Given the description of an element on the screen output the (x, y) to click on. 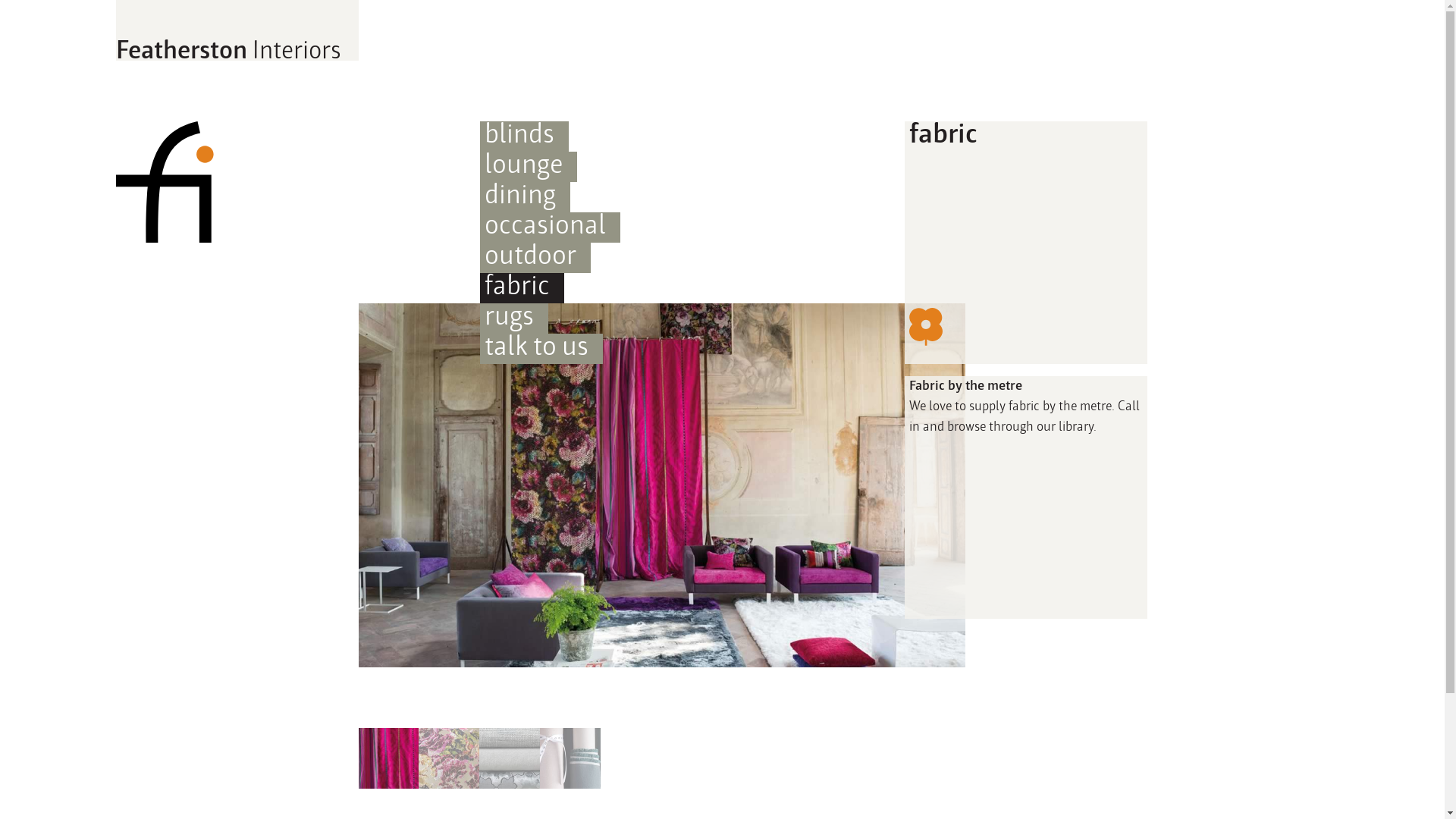
Featherston Interiors Element type: text (236, 30)
blinds Element type: text (523, 136)
outdoor Element type: text (534, 257)
talk to us Element type: text (540, 348)
lounge Element type: text (527, 166)
occasional Element type: text (549, 227)
fabric Element type: text (521, 288)
rugs Element type: text (513, 318)
dining Element type: text (524, 197)
